Given the description of an element on the screen output the (x, y) to click on. 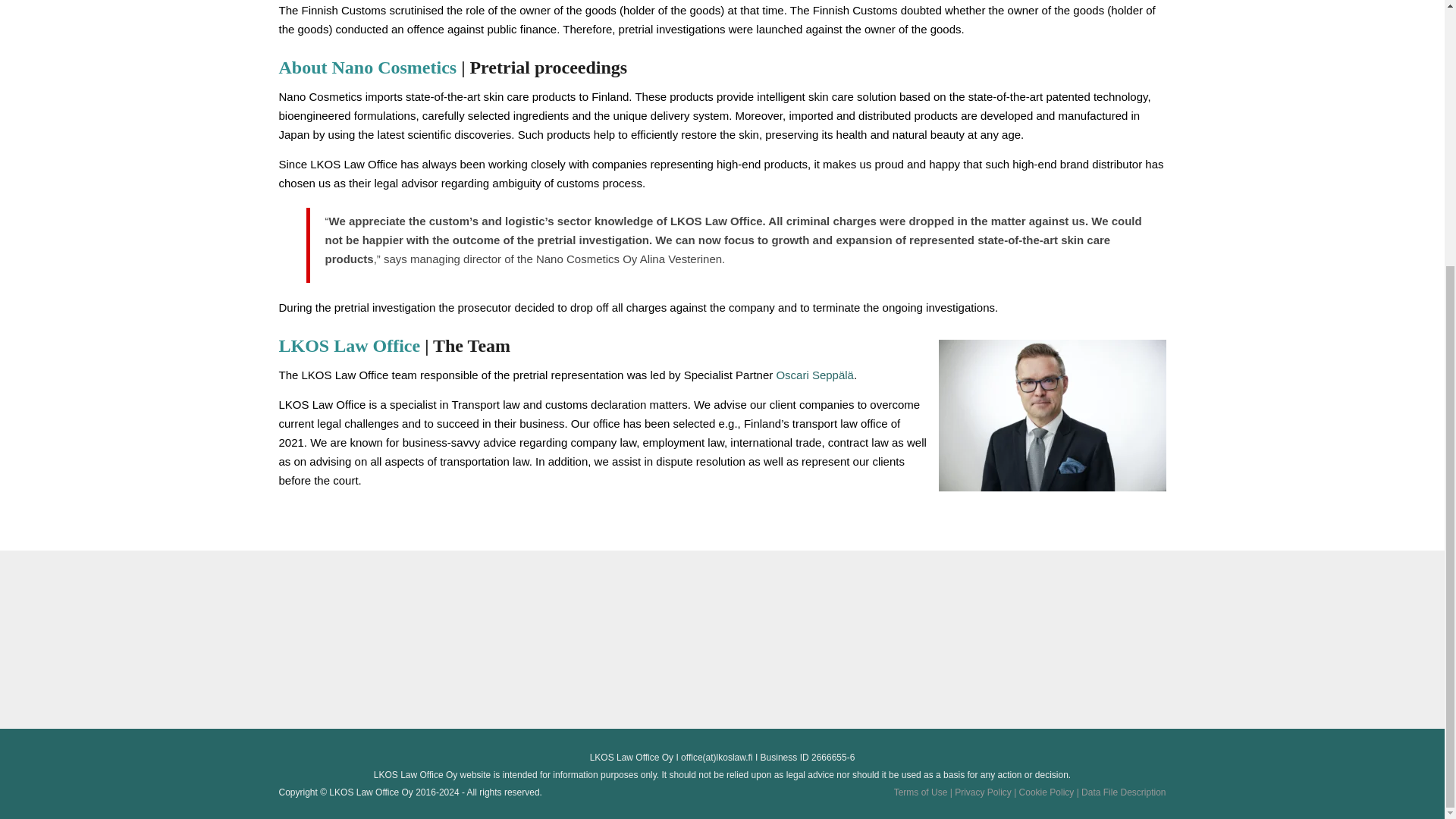
Privacy Policy (986, 792)
Cookie Policy (1050, 792)
Terms of Use (924, 792)
Data File Description (1123, 792)
